Given the description of an element on the screen output the (x, y) to click on. 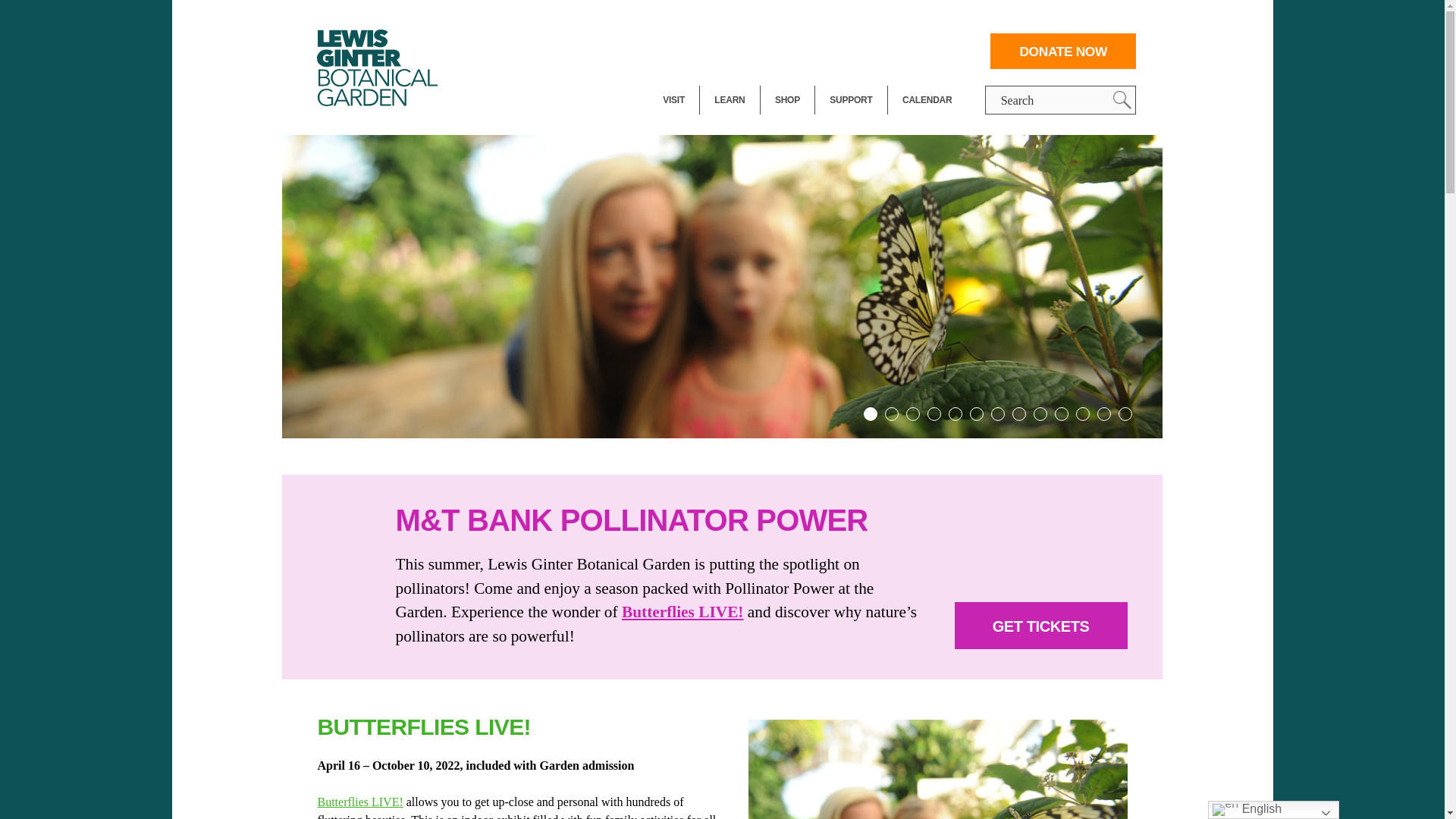
Search (1122, 99)
VISIT (672, 99)
Search (1122, 99)
LEWIS GINTER BOTANICAL GARDEN (381, 67)
